Given the description of an element on the screen output the (x, y) to click on. 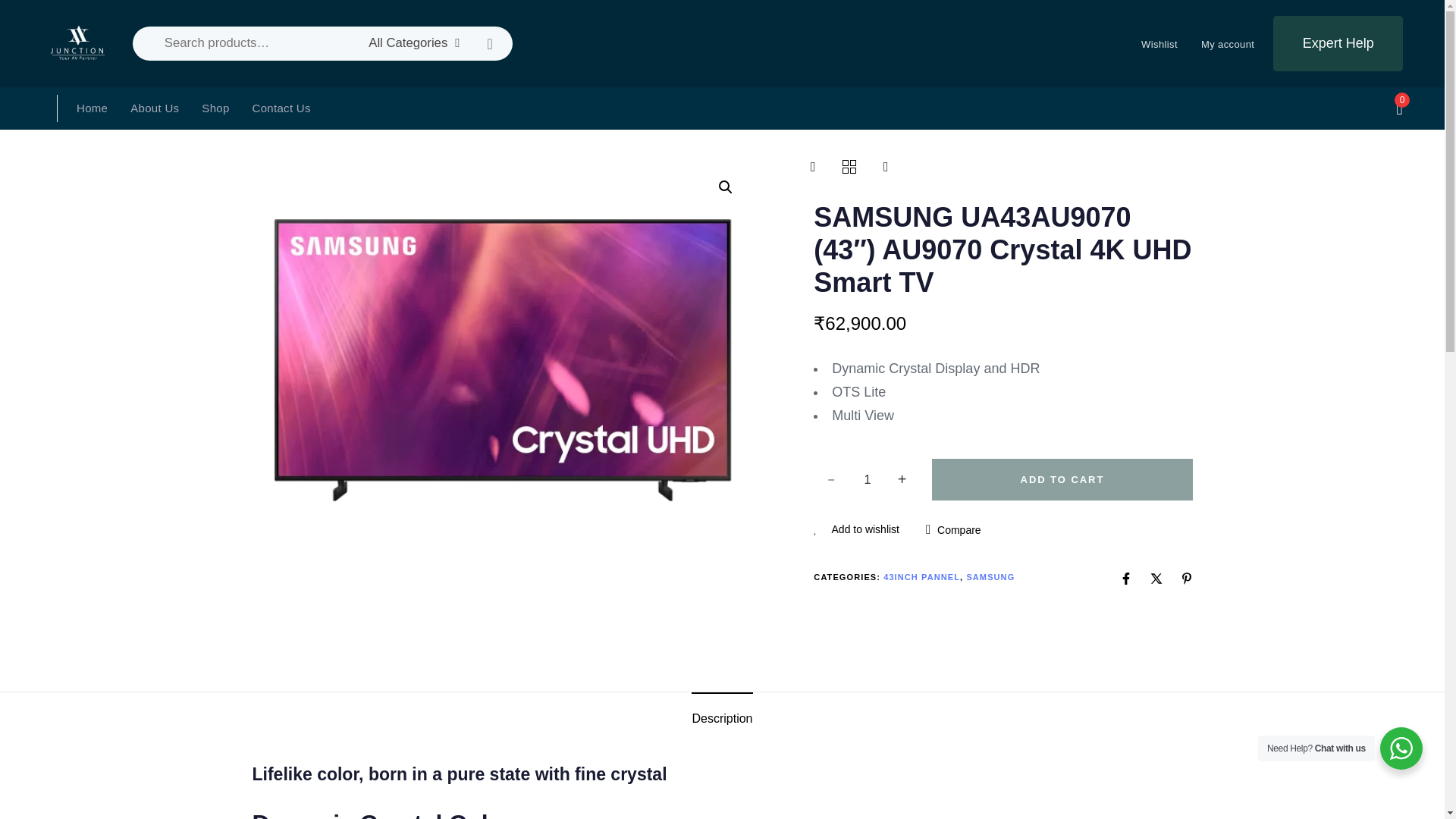
Search (489, 43)
1 (866, 479)
43INCH PANNEL (921, 576)
Add to wishlist (856, 529)
Contact Us (281, 107)
Description (721, 718)
ADD TO CART (1061, 479)
Shop (215, 107)
About Us (154, 107)
